Given the description of an element on the screen output the (x, y) to click on. 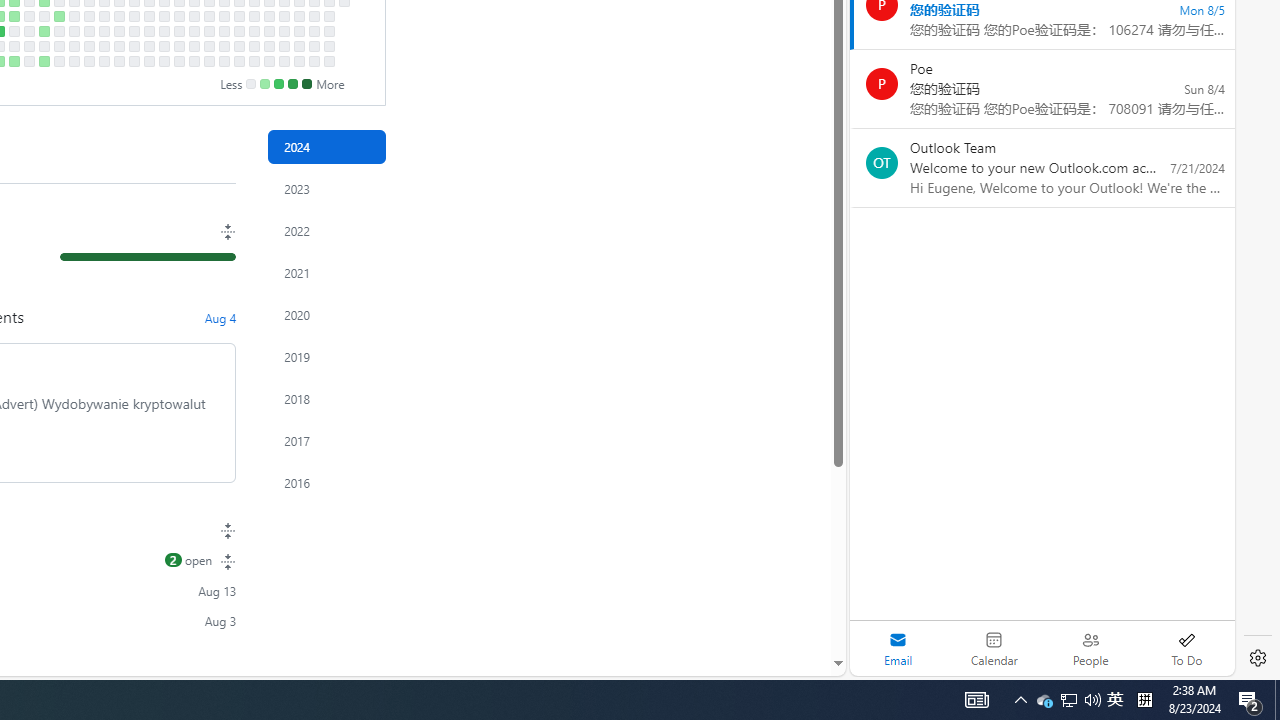
No contributions on December 12th. (298, 30)
2022 (326, 230)
No contributions on December 28th. (328, 61)
No contributions on October 10th. (163, 30)
No contributions on October 9th. (163, 16)
Contribution activity in 2017 (326, 440)
No contributions on December 6th. (283, 46)
No contributions on October 26th. (193, 61)
No contributions on December 14th. (298, 61)
Contribution activity in 2020 (326, 314)
No contributions on December 21st. (314, 61)
No contributions on December 20th. (314, 46)
No contributions on November 8th. (223, 46)
No contributions on September 11th. (104, 16)
No contributions on September 14th. (104, 61)
